Given the description of an element on the screen output the (x, y) to click on. 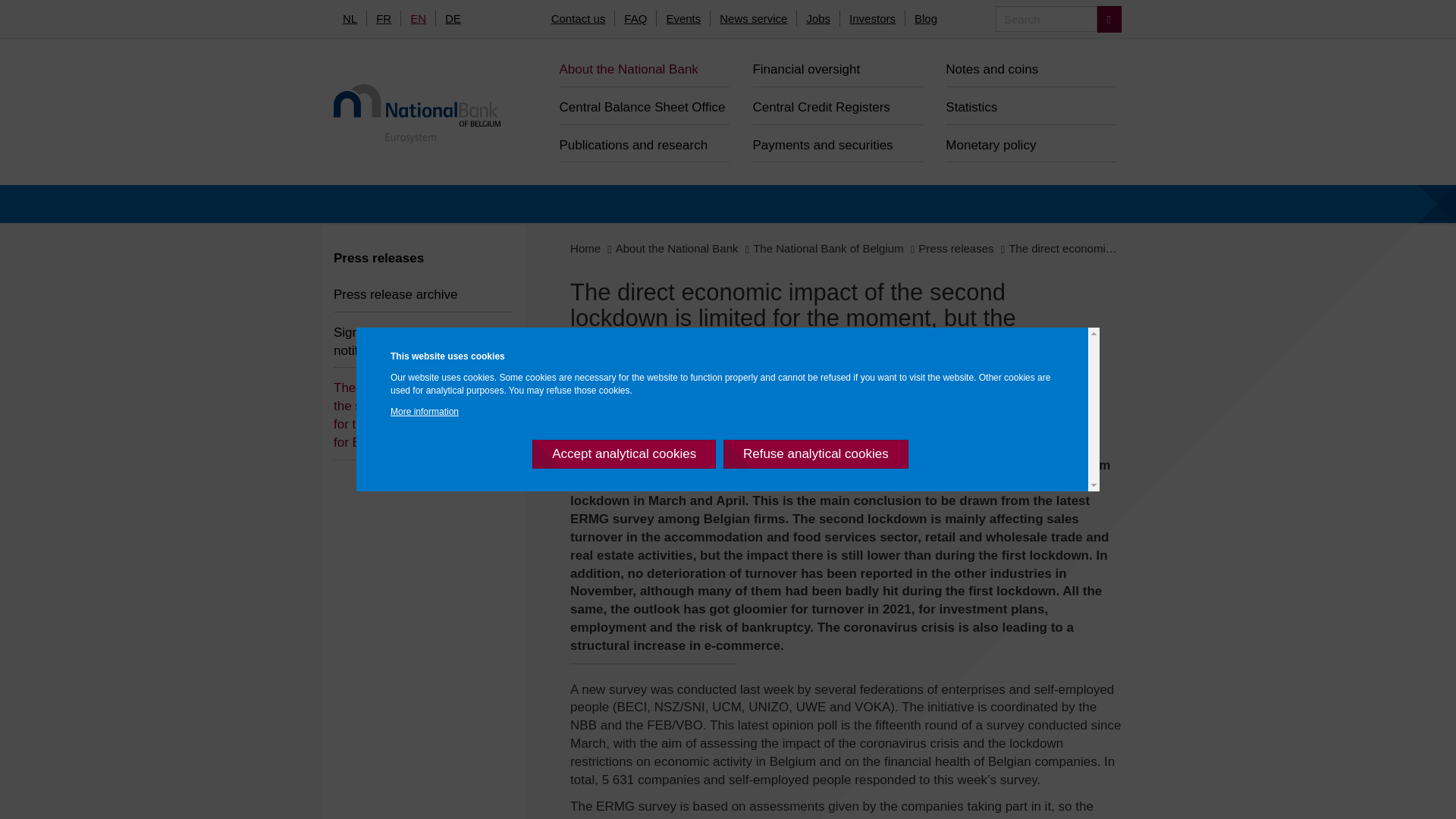
Blog (925, 18)
Sign up to receive email notifications (423, 339)
Statistics (1030, 105)
Press releases (378, 257)
Contact us (577, 18)
Home (584, 247)
About the National Bank (676, 247)
NL (349, 18)
About the National Bank (644, 67)
Payments and securities (837, 143)
